Given the description of an element on the screen output the (x, y) to click on. 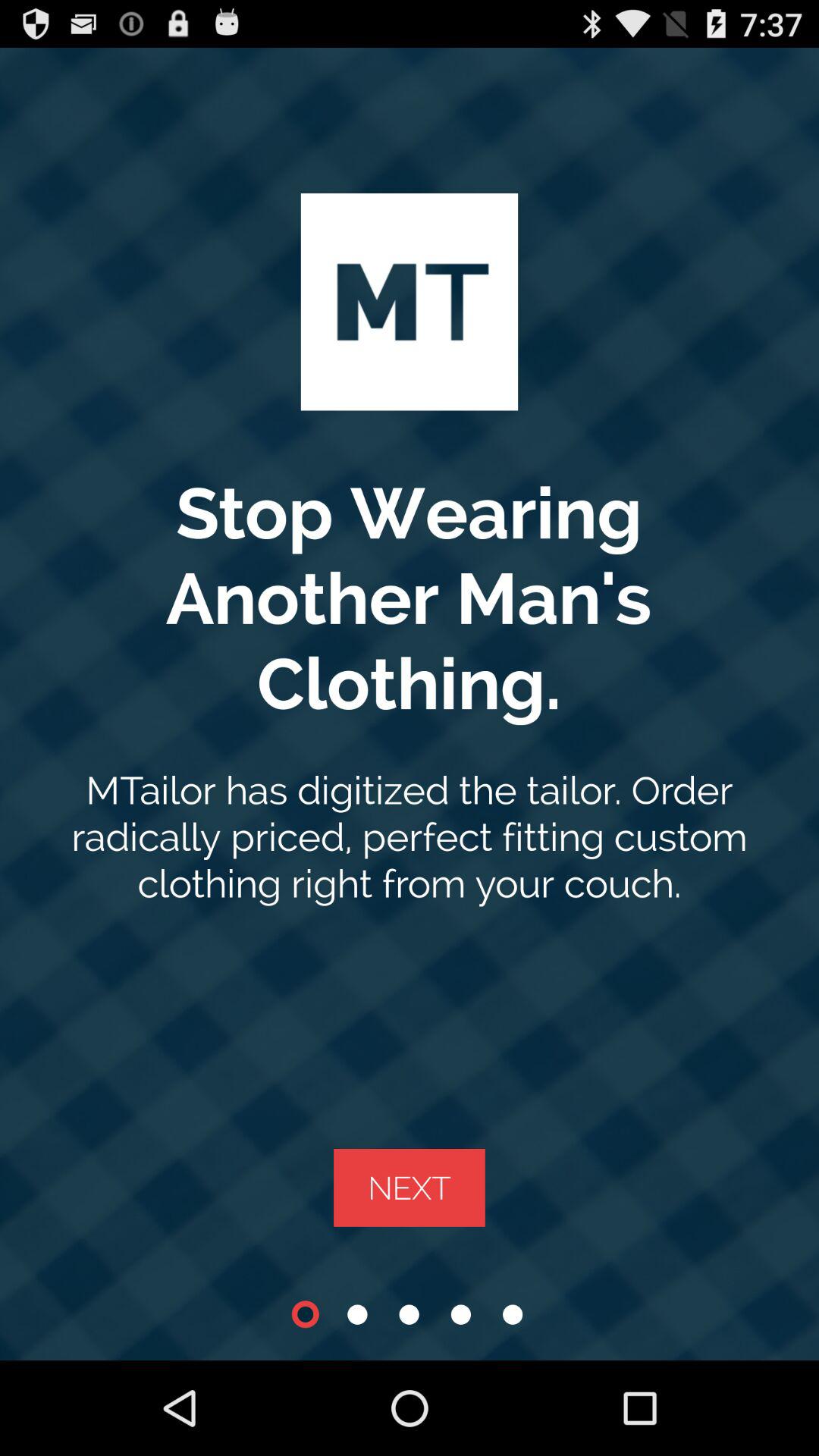
scroll to next icon (409, 1187)
